Given the description of an element on the screen output the (x, y) to click on. 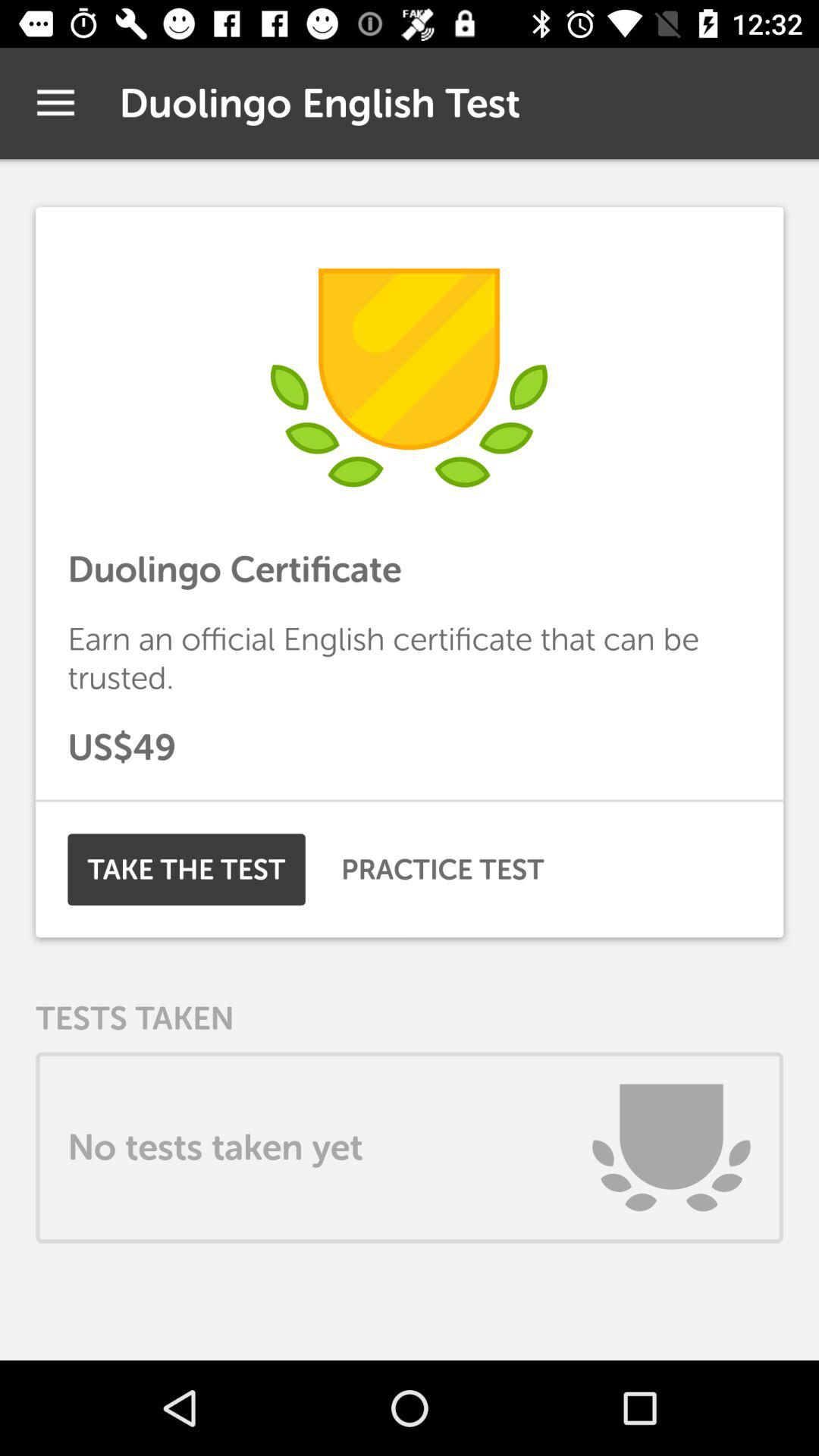
open menu (55, 103)
